Given the description of an element on the screen output the (x, y) to click on. 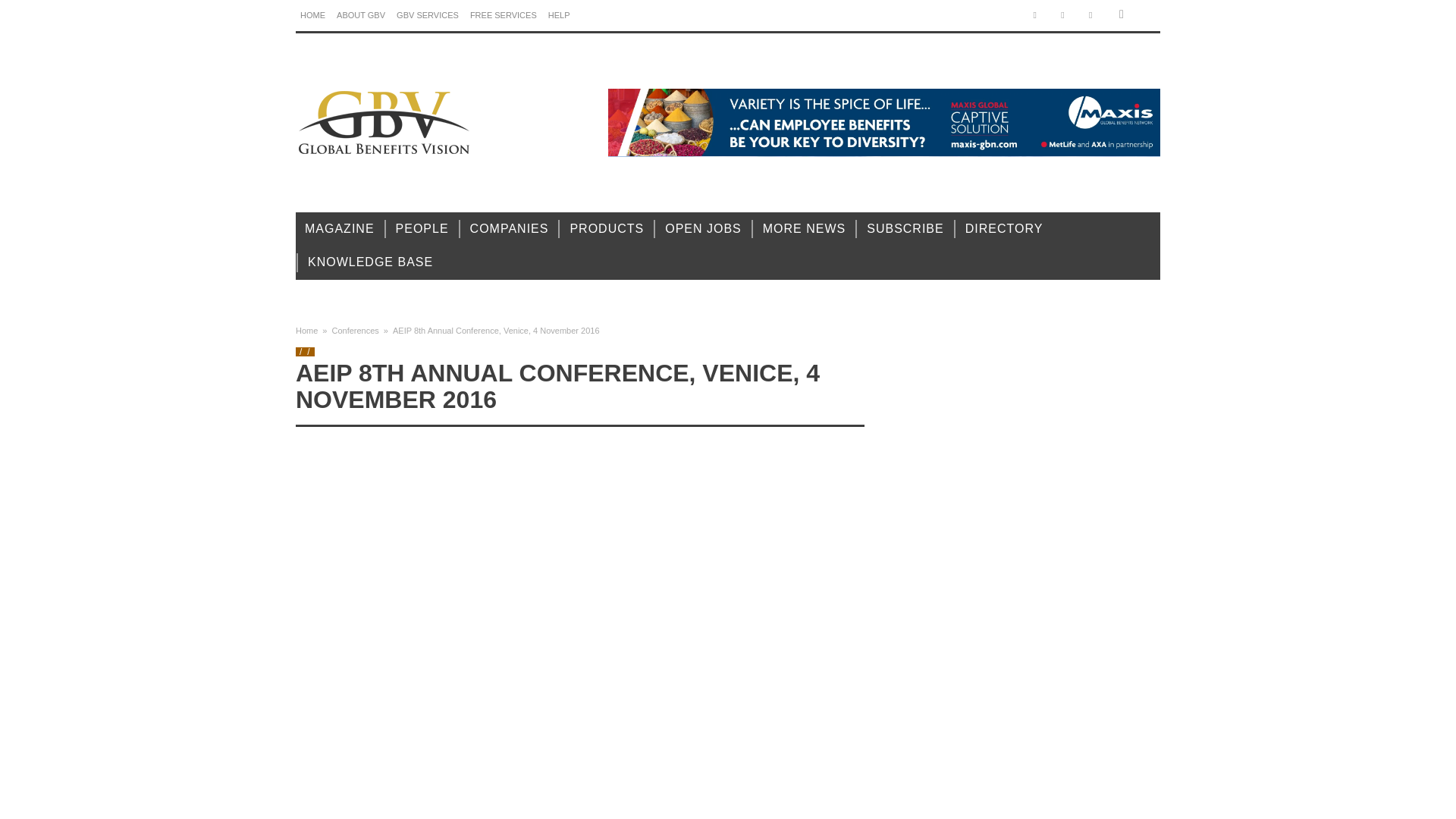
FREE SERVICES (503, 15)
PRODUCTS (606, 229)
HELP (559, 15)
COMPANIES (509, 229)
DIRECTORY (1004, 229)
PEOPLE (422, 229)
subscribe (904, 229)
MAGAZINE (339, 229)
MORE NEWS (804, 229)
LinkedIn (1062, 15)
